Given the description of an element on the screen output the (x, y) to click on. 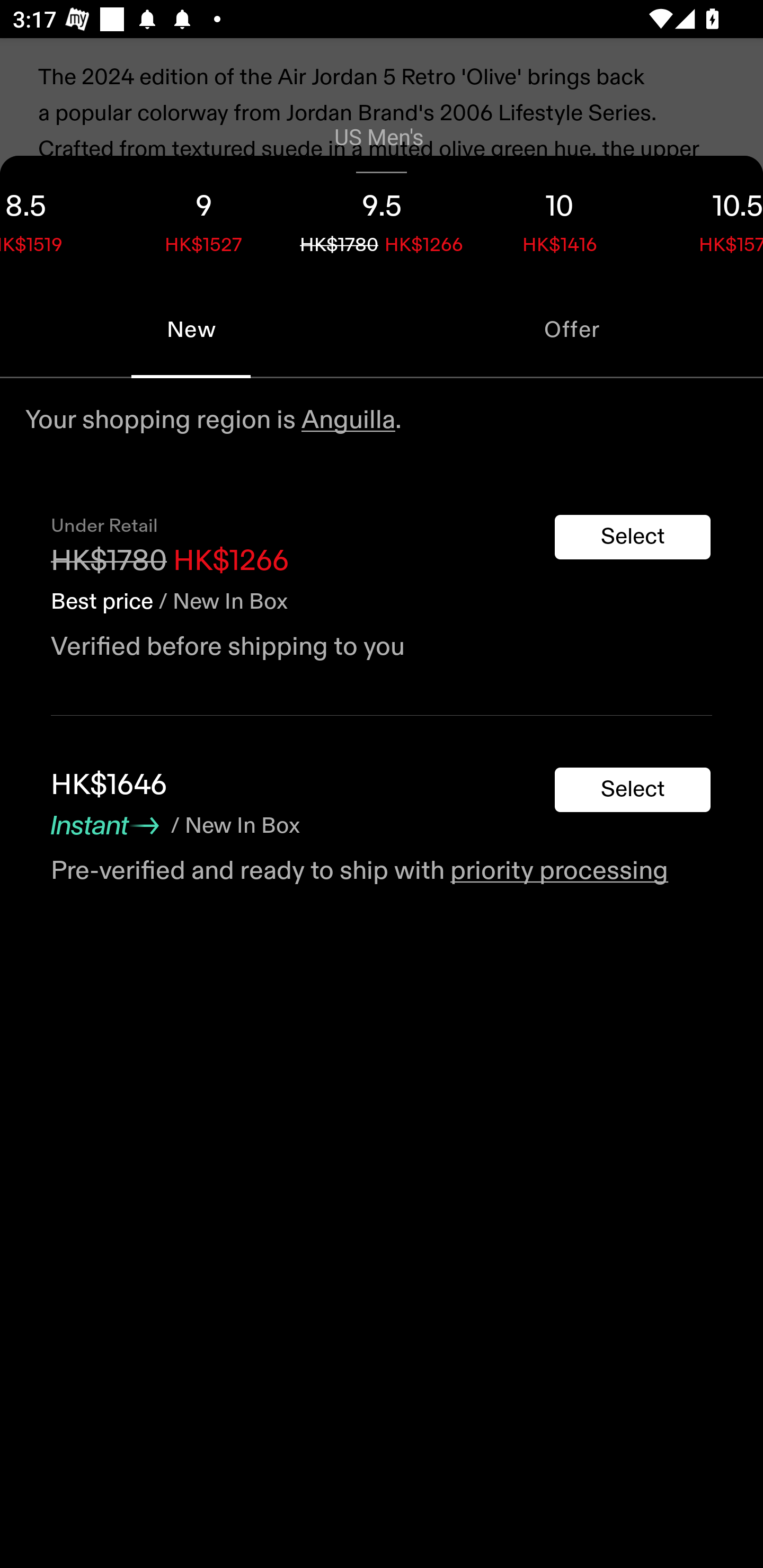
8.5 HK$1519 (57, 218)
9 HK$1527 (203, 218)
9.5 HK$1780 HK$1266 (381, 218)
10 HK$1416 (559, 218)
10.5 HK$1574 (705, 218)
Offer (572, 329)
Select (632, 536)
Sell (152, 583)
HK$1646 (109, 785)
Select (632, 789)
